Given the description of an element on the screen output the (x, y) to click on. 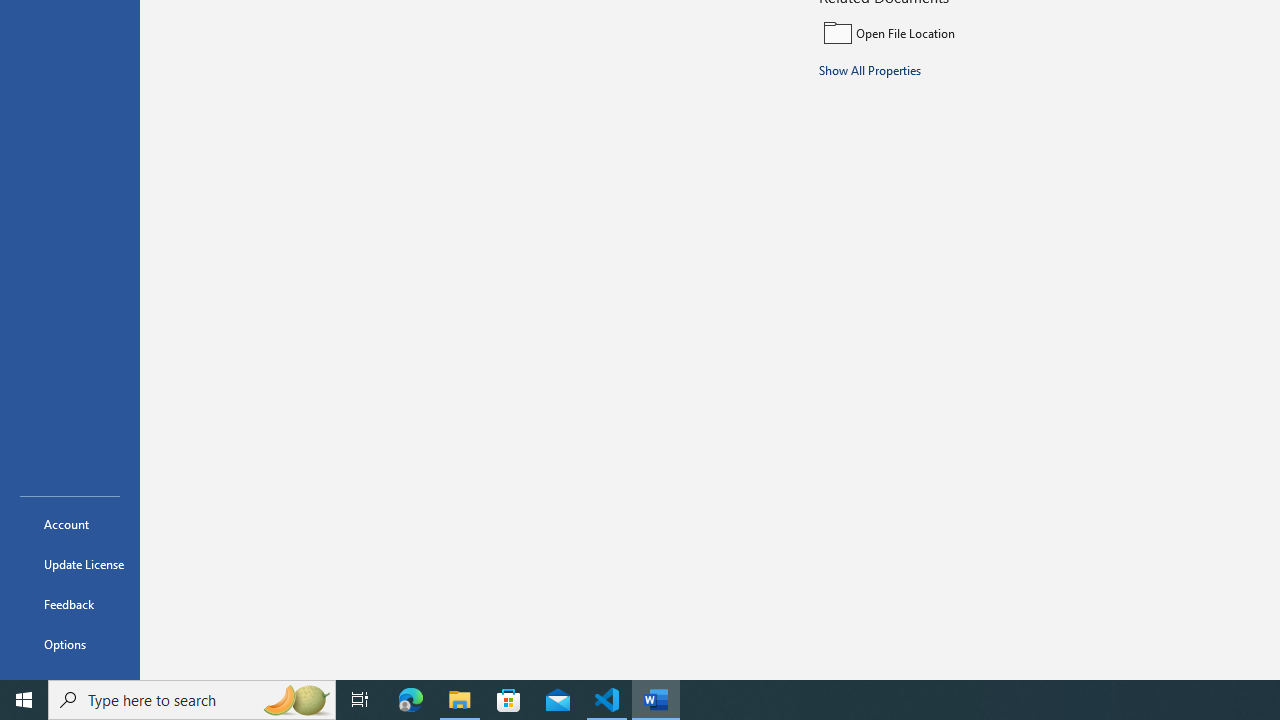
Options (69, 643)
Feedback (69, 603)
Update License (69, 563)
Account (69, 523)
Show All Properties (870, 69)
Open File Location (953, 32)
